Given the description of an element on the screen output the (x, y) to click on. 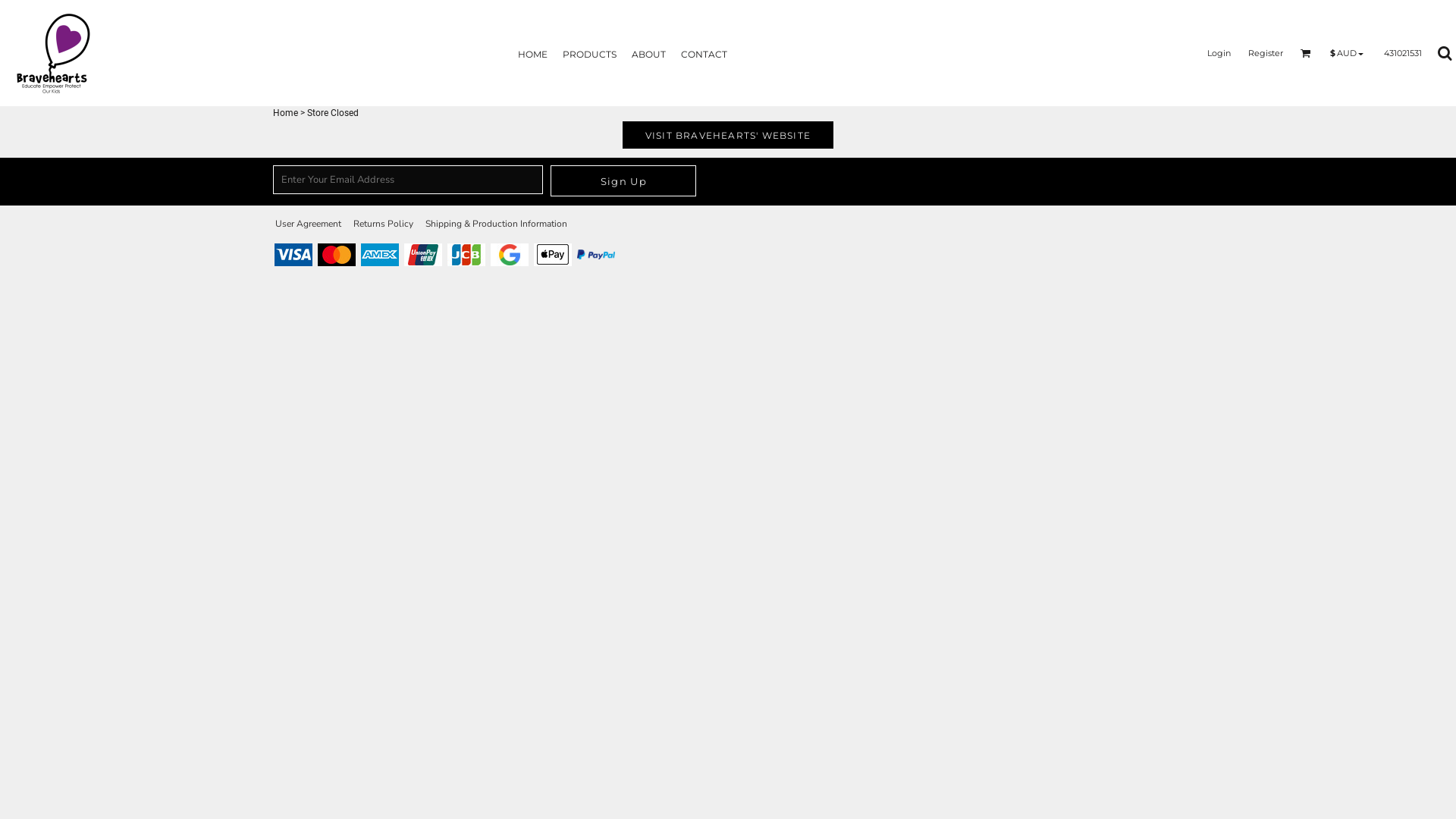
VISIT BRAVEHEARTS' WEBSITE Element type: text (727, 134)
PRODUCTS Element type: text (589, 52)
User Agreement Element type: text (308, 223)
HOME Element type: text (532, 52)
CONTACT Element type: text (703, 52)
Sign Up Element type: text (623, 180)
ABOUT Element type: text (648, 52)
Register Element type: text (1265, 52)
Returns Policy Element type: text (383, 223)
Home Element type: text (285, 112)
as Element type: text (11, 7)
Login Element type: text (1218, 52)
Shipping & Production Information Element type: text (496, 223)
